Given the description of an element on the screen output the (x, y) to click on. 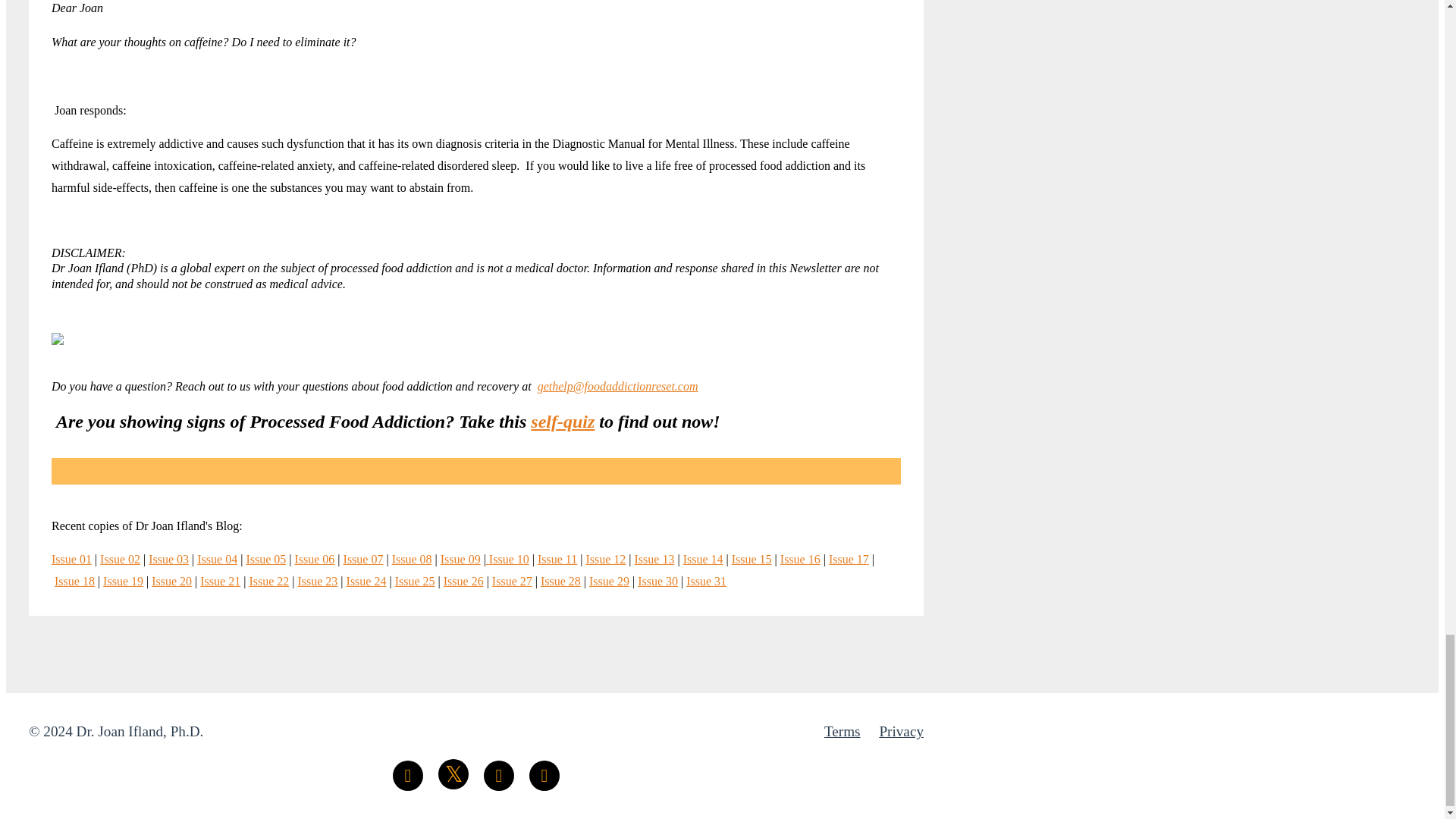
self-quiz (562, 421)
Issue 04 (216, 558)
Issue 19 (122, 581)
gethelp (555, 386)
Issue 05 (265, 558)
Issue 02 (119, 558)
Issue 03 (168, 558)
Issue 03 (168, 558)
Issue 01 (70, 558)
